Given the description of an element on the screen output the (x, y) to click on. 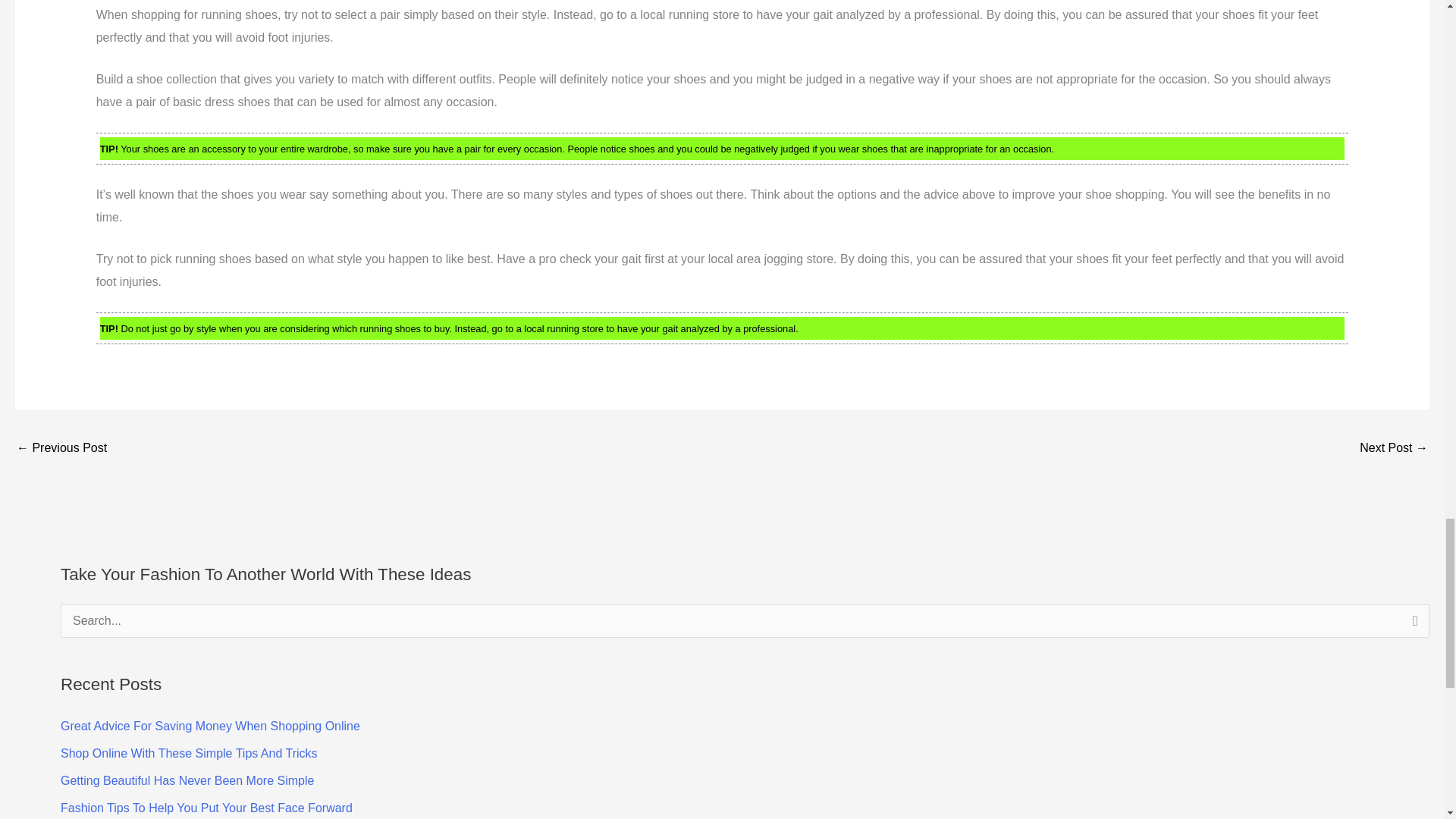
Great Advice For Saving Money When Shopping Online (210, 725)
Getting Beautiful Has Never Been More Simple (187, 780)
Shop Online With These Simple Tips And Tricks (189, 753)
Fashion Tips To Help You Put Your Best Face Forward (206, 807)
